Given the description of an element on the screen output the (x, y) to click on. 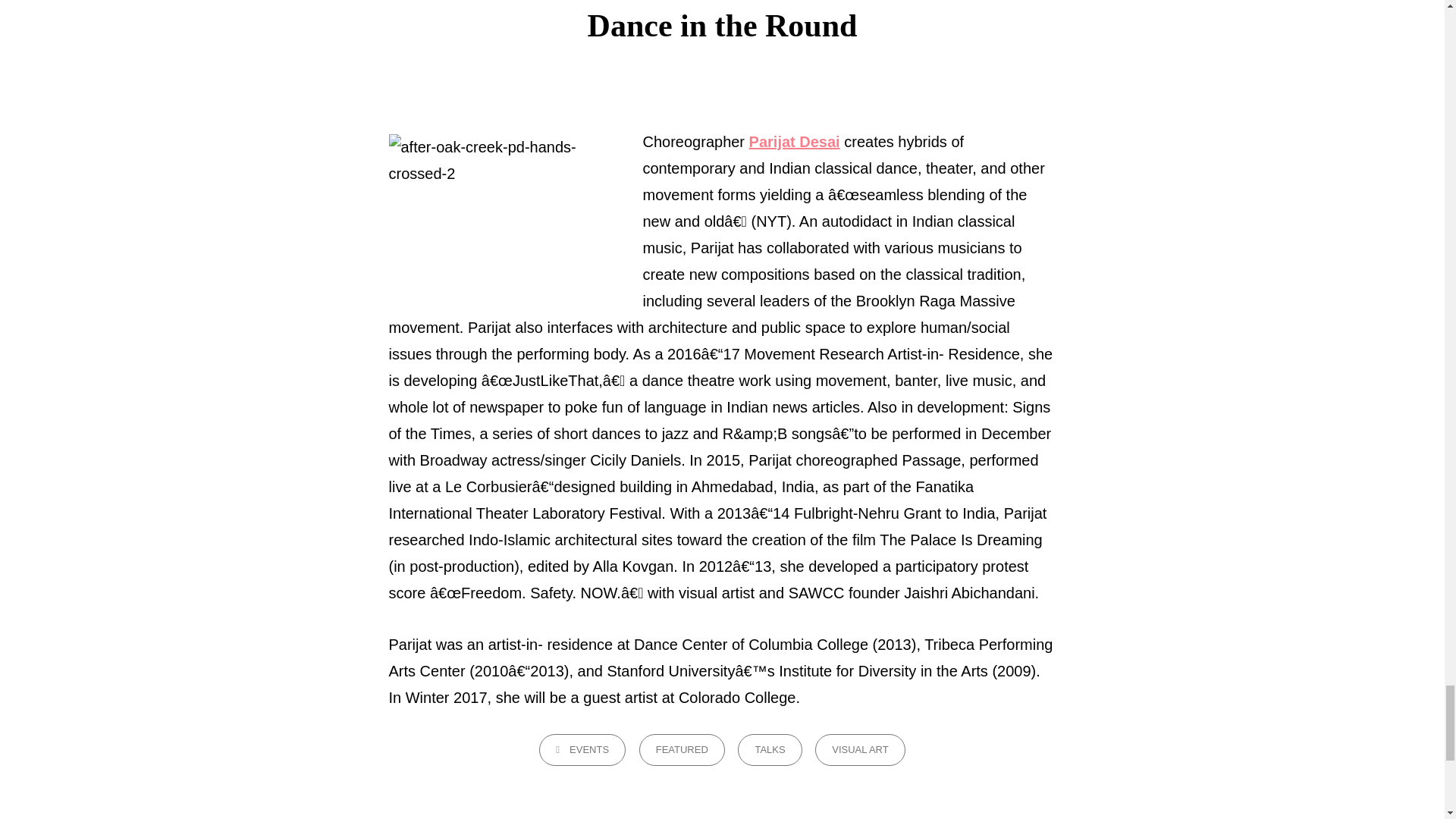
FEATURED (682, 749)
Parijat Desai (794, 141)
TALKS (770, 749)
EVENTS (582, 749)
VISUAL ART (859, 749)
